Given the description of an element on the screen output the (x, y) to click on. 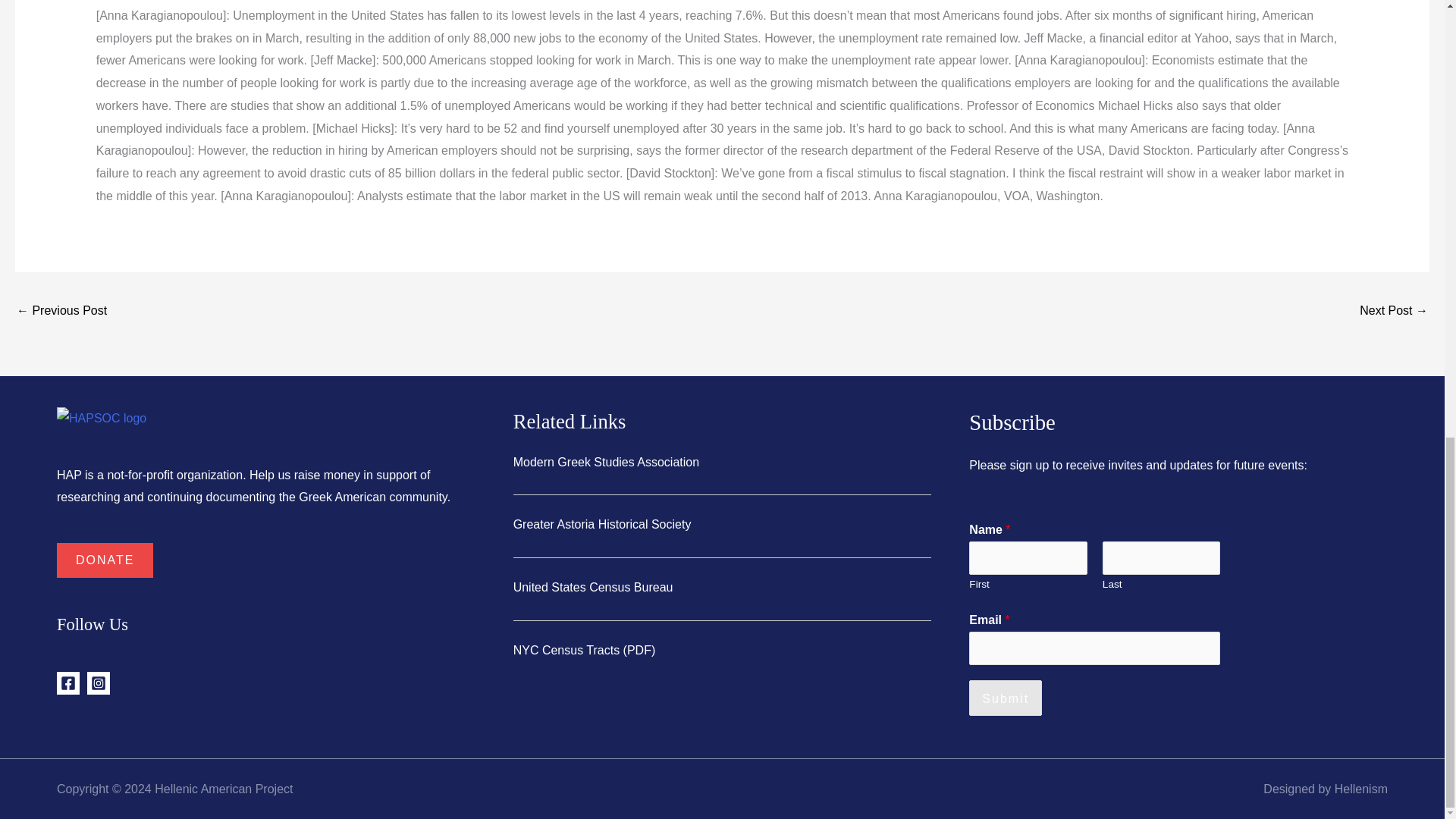
VOA NEWS REPORT GREEK 5 9 13 (1393, 311)
VOA NEWS REPORT GREEK 4 4 13 (61, 311)
